Given the description of an element on the screen output the (x, y) to click on. 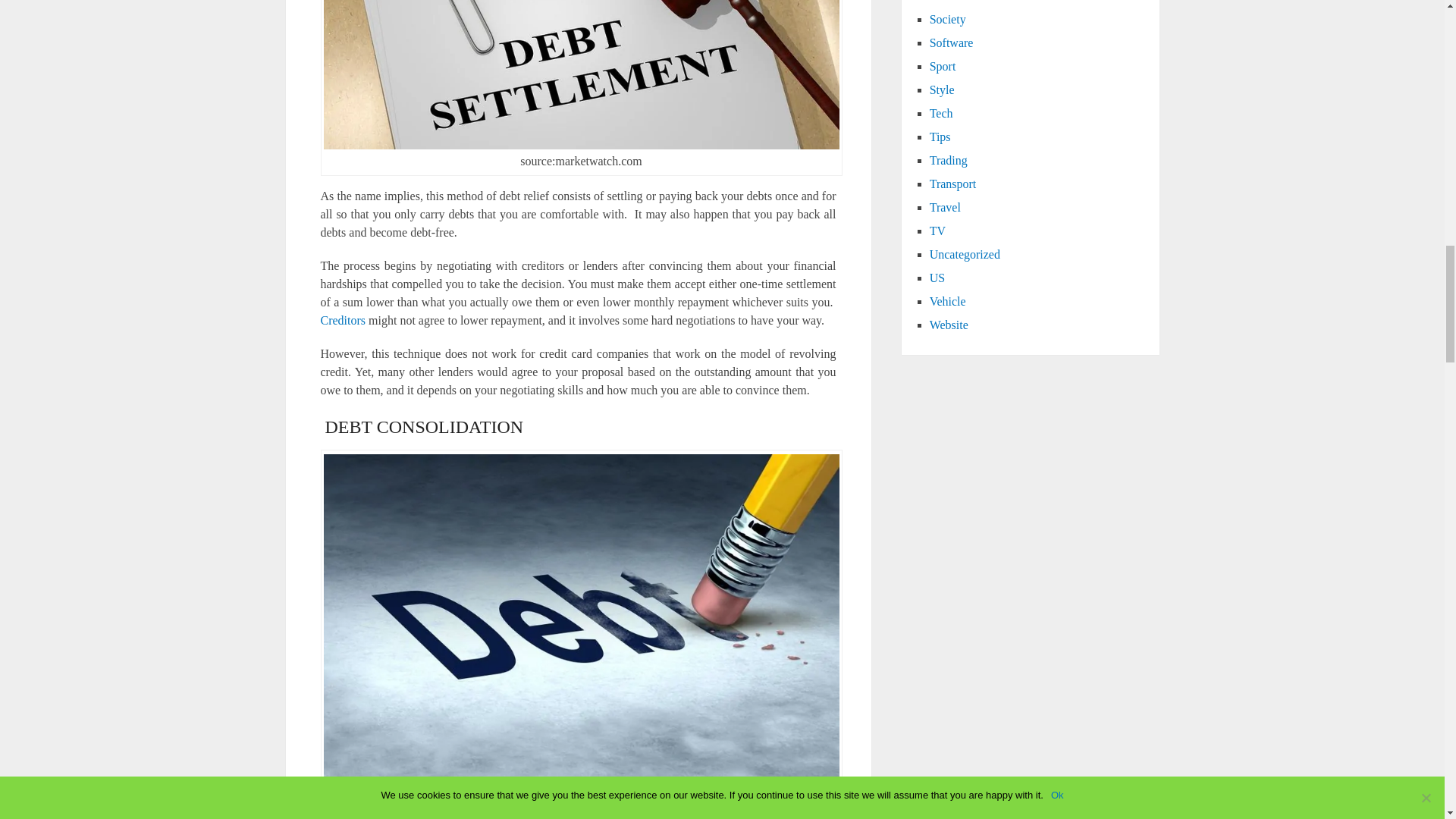
Creditors (342, 319)
